Given the description of an element on the screen output the (x, y) to click on. 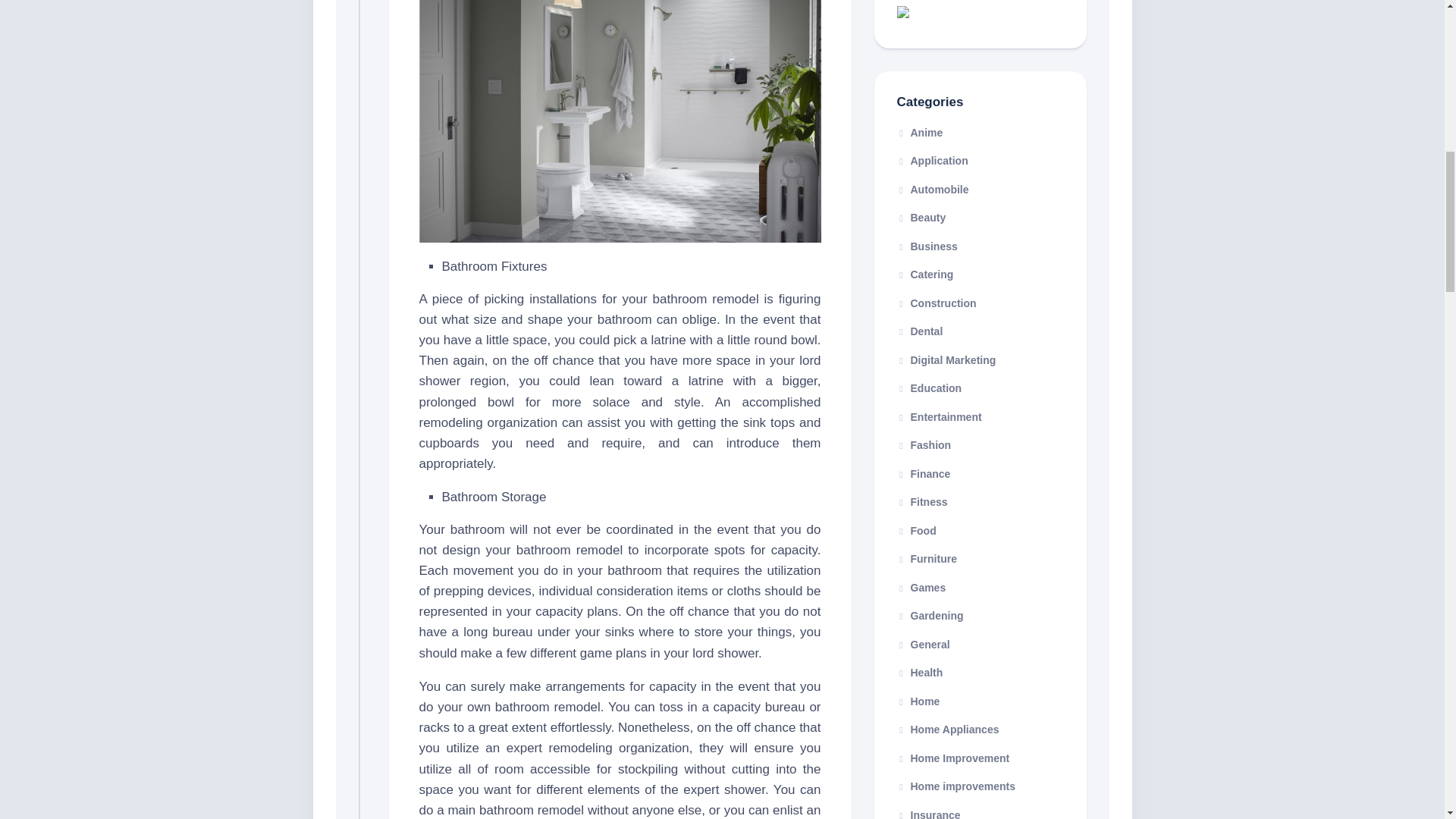
Anime (919, 132)
Entertainment (938, 417)
Food (916, 530)
Fitness (921, 501)
Beauty (920, 217)
Furniture (926, 558)
Dental (919, 331)
Fashion (923, 444)
Digital Marketing (945, 358)
Catering (924, 274)
Application (932, 160)
Business (926, 245)
Finance (923, 472)
Construction (935, 303)
Automobile (932, 189)
